Given the description of an element on the screen output the (x, y) to click on. 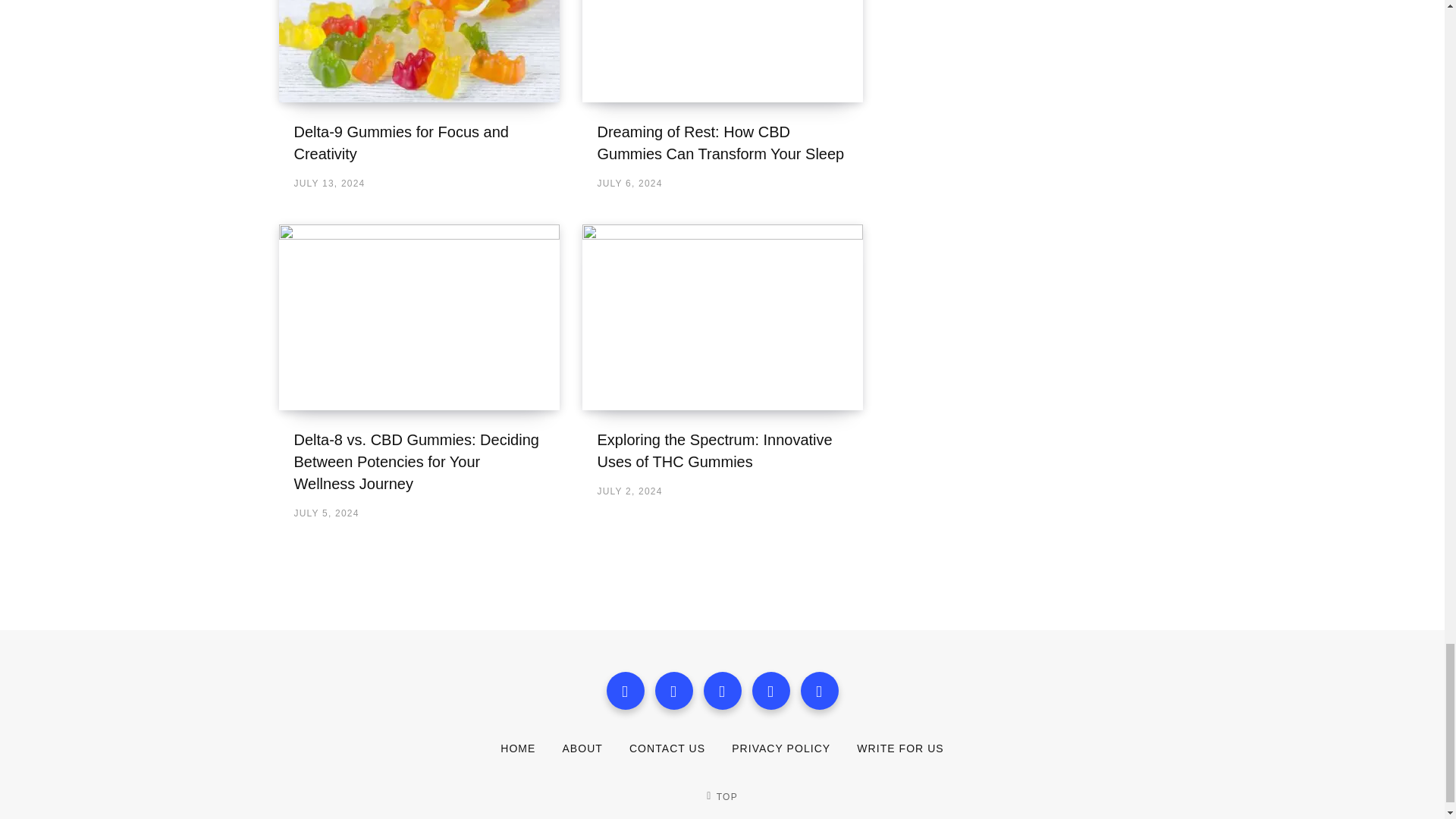
Delta-9 Gummies for Focus and Creativity (401, 142)
Exploring the Spectrum: Innovative Uses of THC Gummies (714, 450)
Dreaming of Rest: How CBD Gummies Can Transform Your Sleep (720, 142)
Delta-9 Gummies for Focus and Creativity (419, 51)
